Given the description of an element on the screen output the (x, y) to click on. 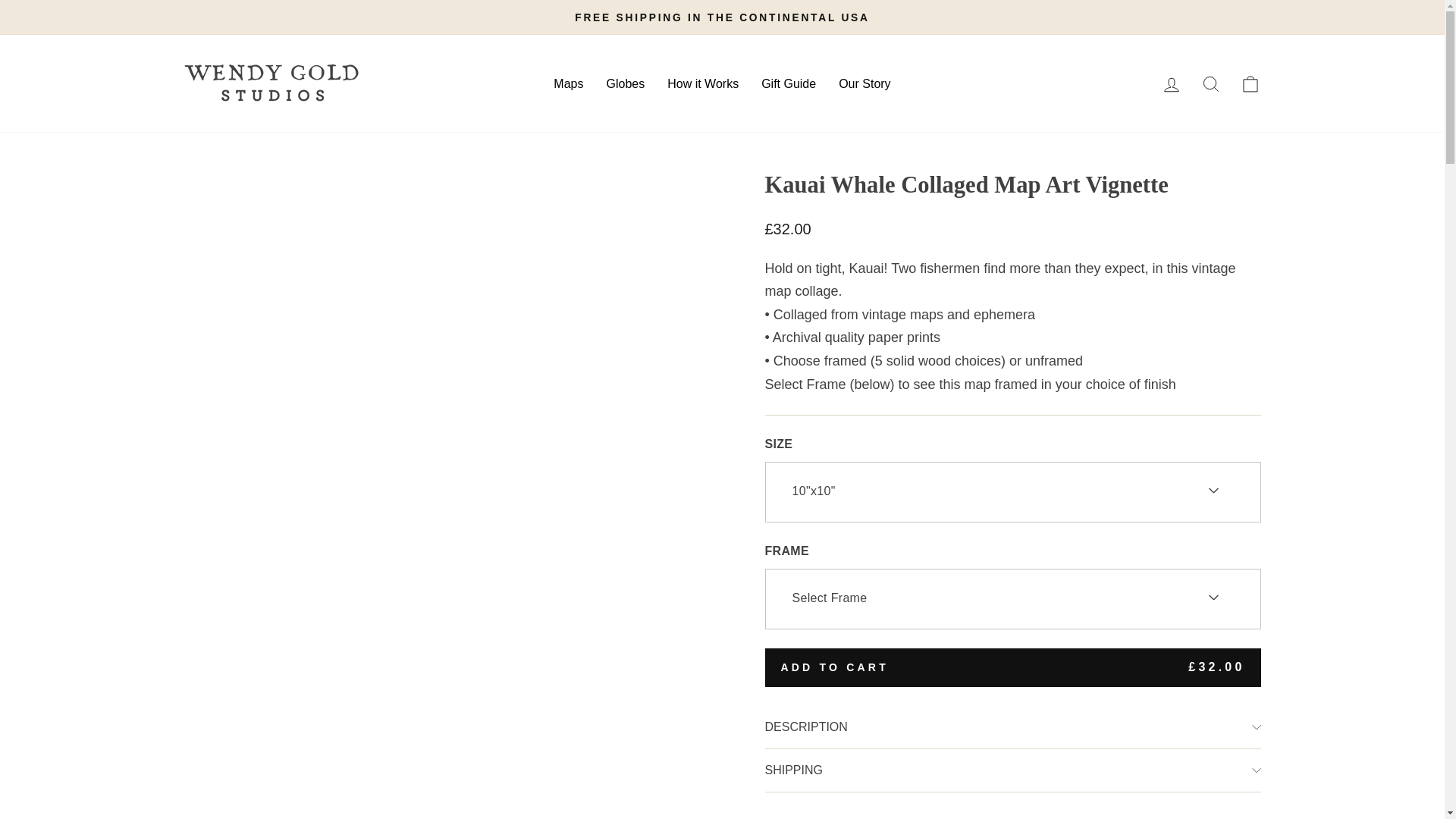
Pin on Pinterest (1087, 816)
Share on Facebook (939, 816)
Tweet on Twitter (1015, 816)
